Given the description of an element on the screen output the (x, y) to click on. 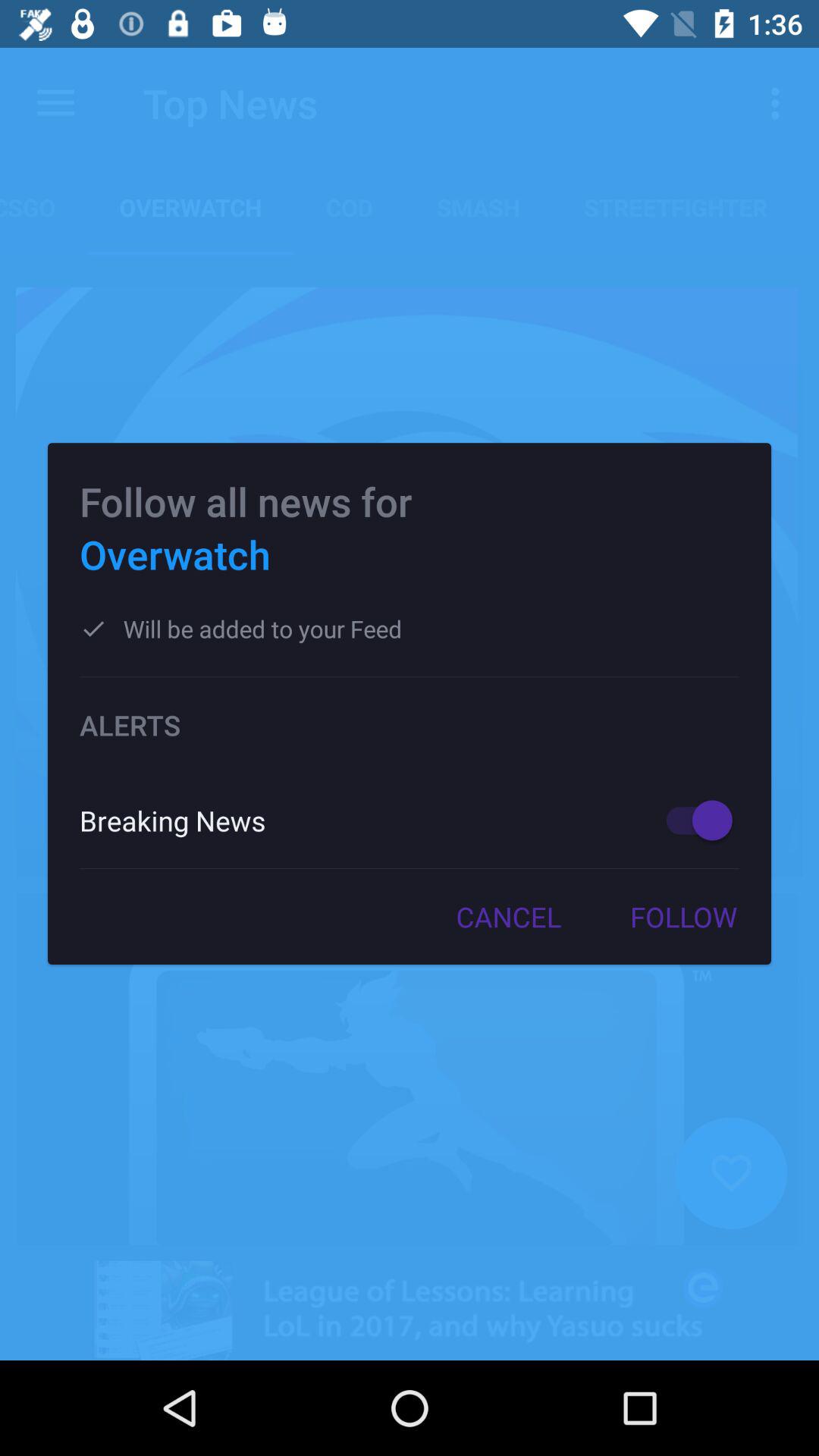
launch icon below alerts (691, 820)
